Given the description of an element on the screen output the (x, y) to click on. 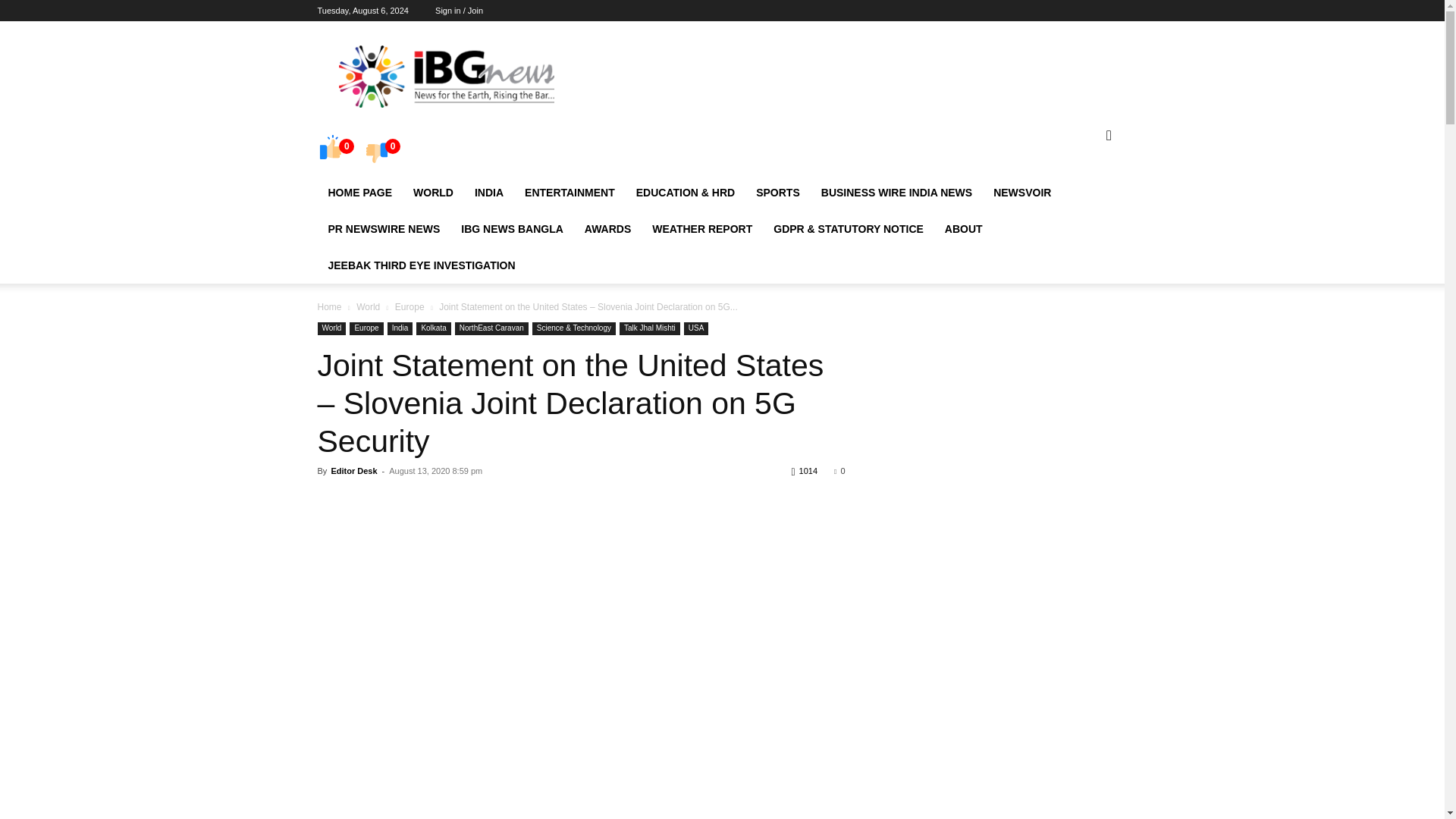
International Broadcasting of Global News (445, 76)
